Given the description of an element on the screen output the (x, y) to click on. 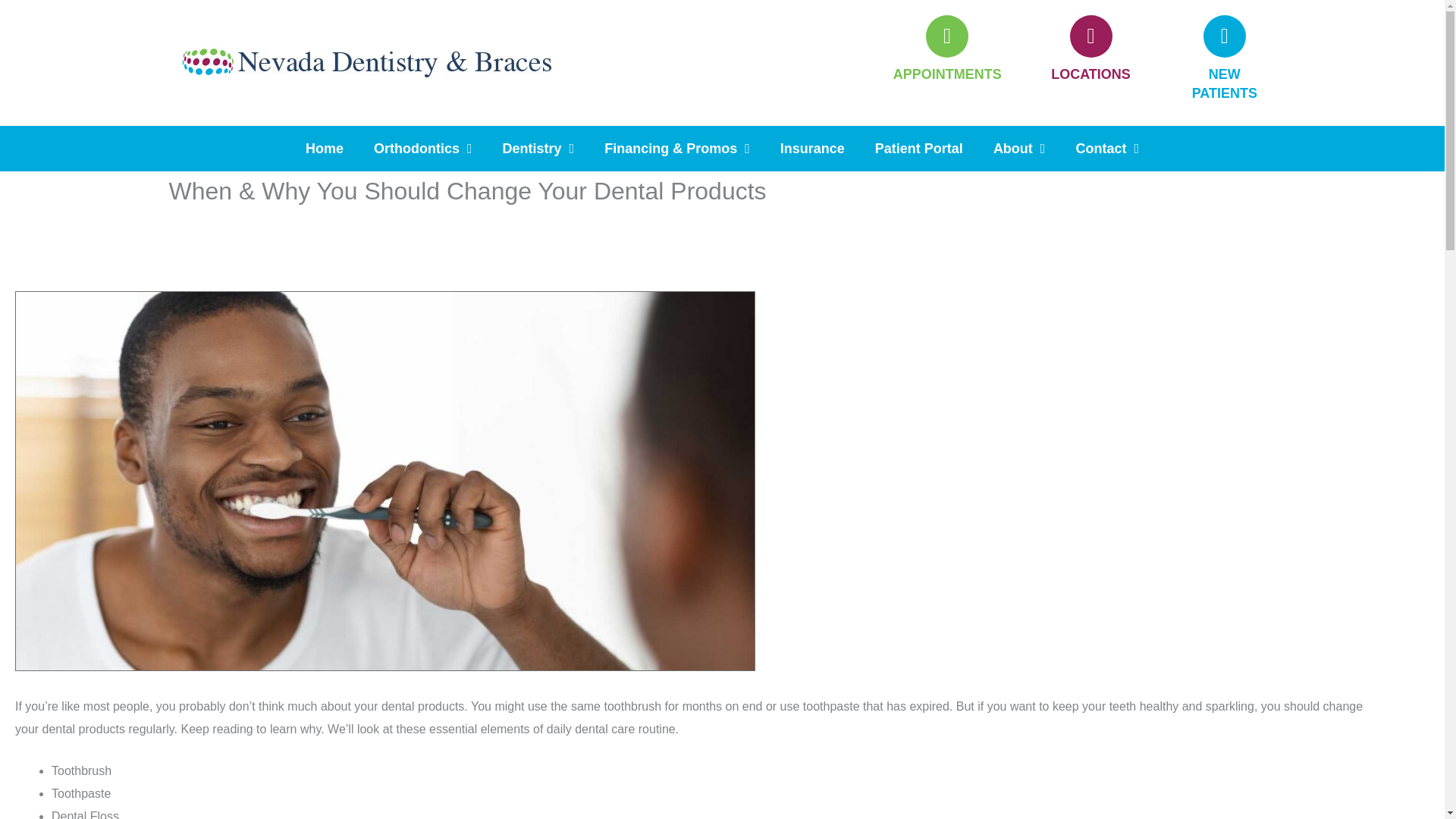
Insurance (812, 148)
Dentistry (538, 148)
About (1019, 148)
Contact (1106, 148)
NEW PATIENTS (1224, 83)
Home (323, 148)
APPOINTMENTS (947, 73)
Patient Portal (919, 148)
LOCATIONS (1091, 73)
Orthodontics (422, 148)
